Given the description of an element on the screen output the (x, y) to click on. 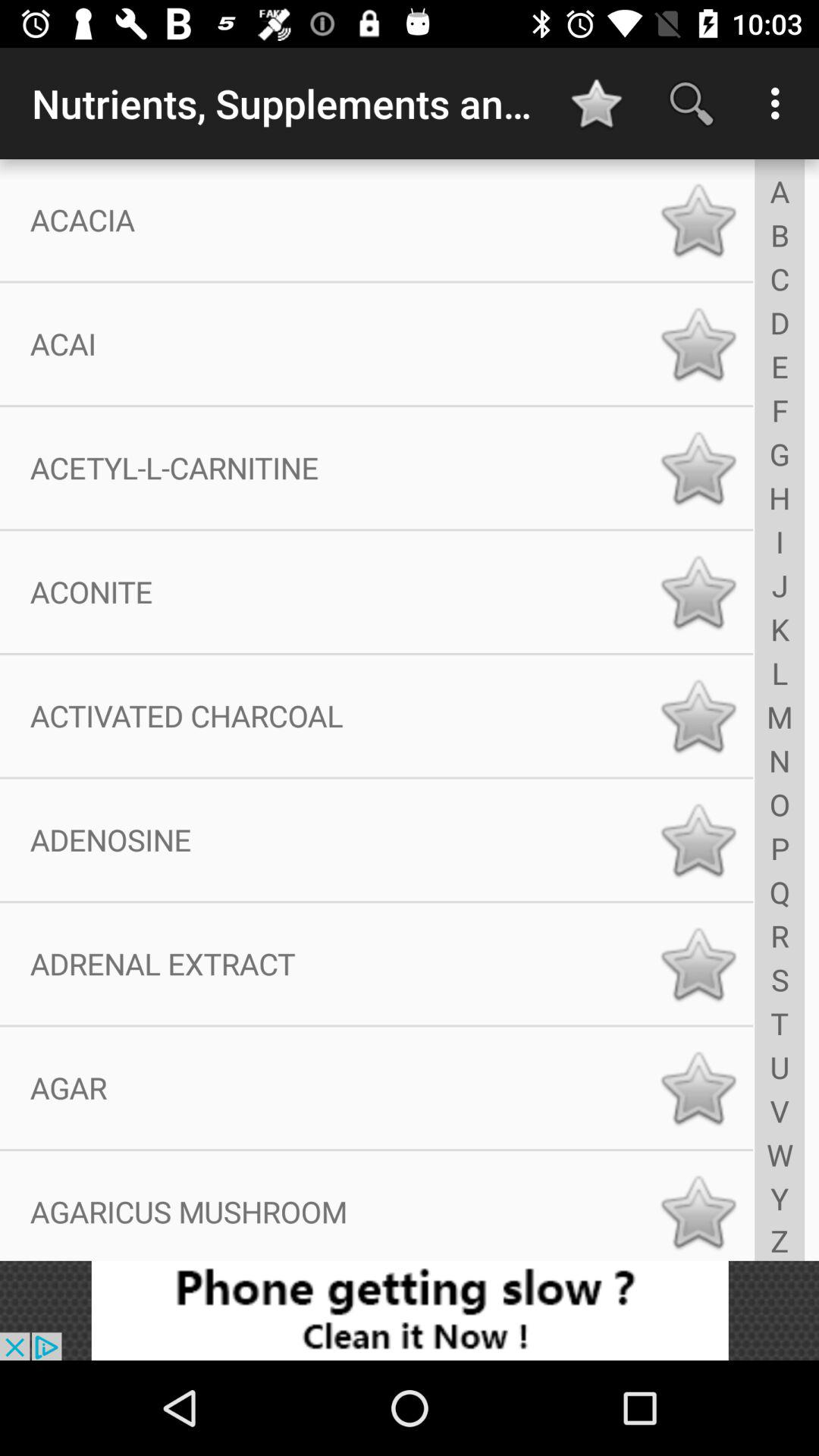
advertisement (409, 1310)
